Given the description of an element on the screen output the (x, y) to click on. 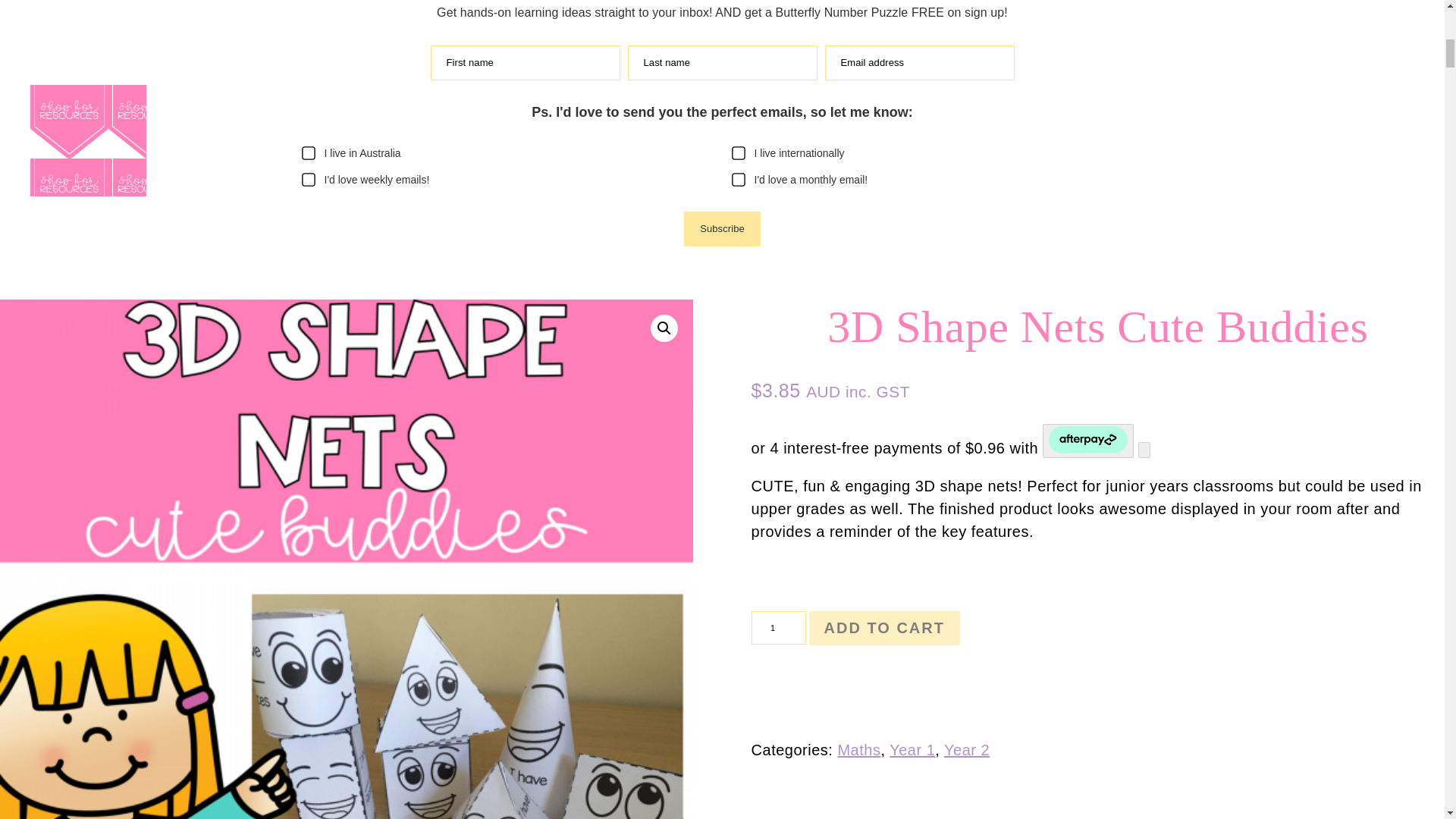
1 (778, 627)
Subscribe (722, 228)
ADD TO CART (884, 627)
Year 2 (966, 750)
Maths (858, 750)
Year 1 (911, 750)
